Given the description of an element on the screen output the (x, y) to click on. 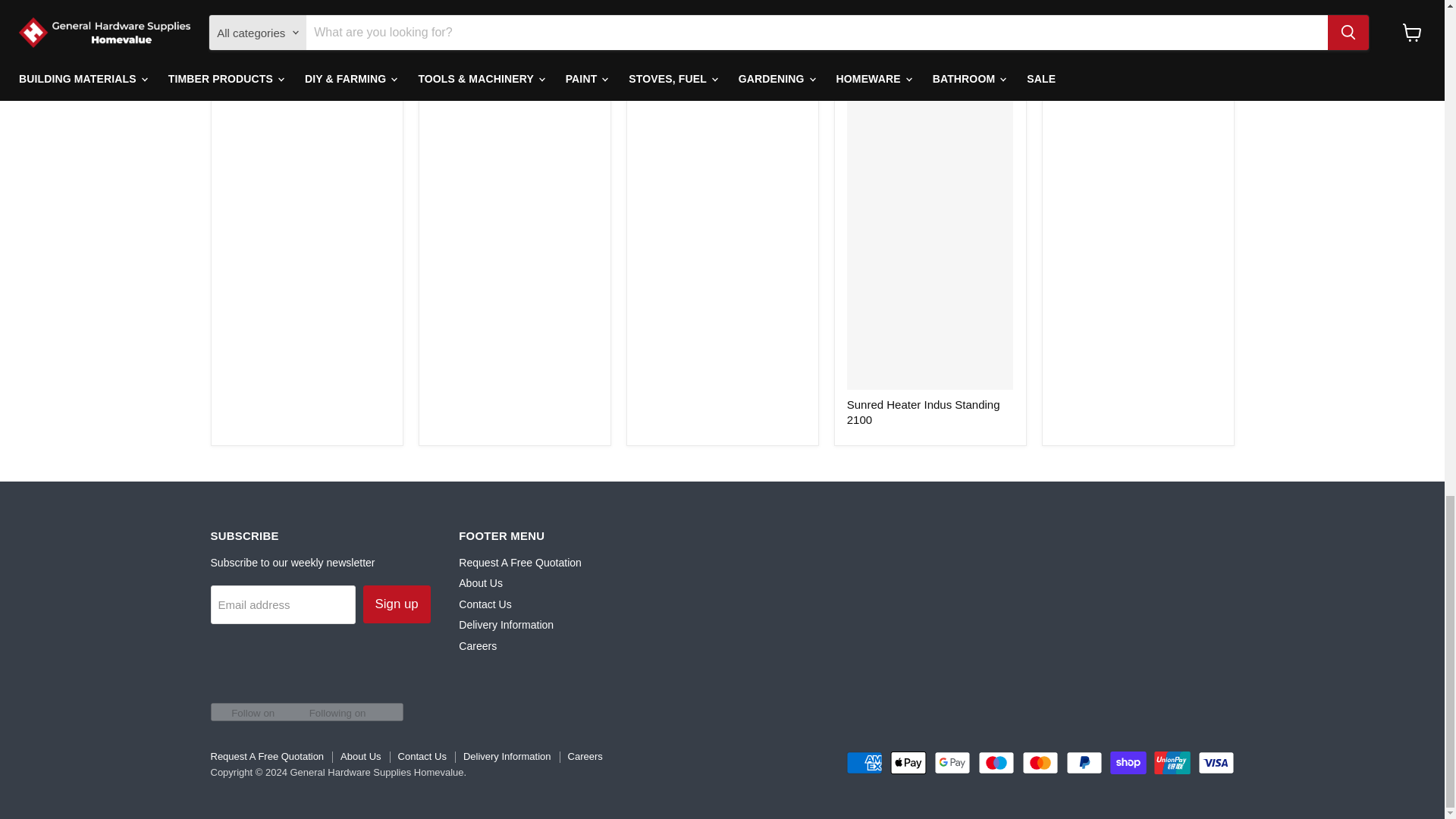
American Express (863, 762)
